Given the description of an element on the screen output the (x, y) to click on. 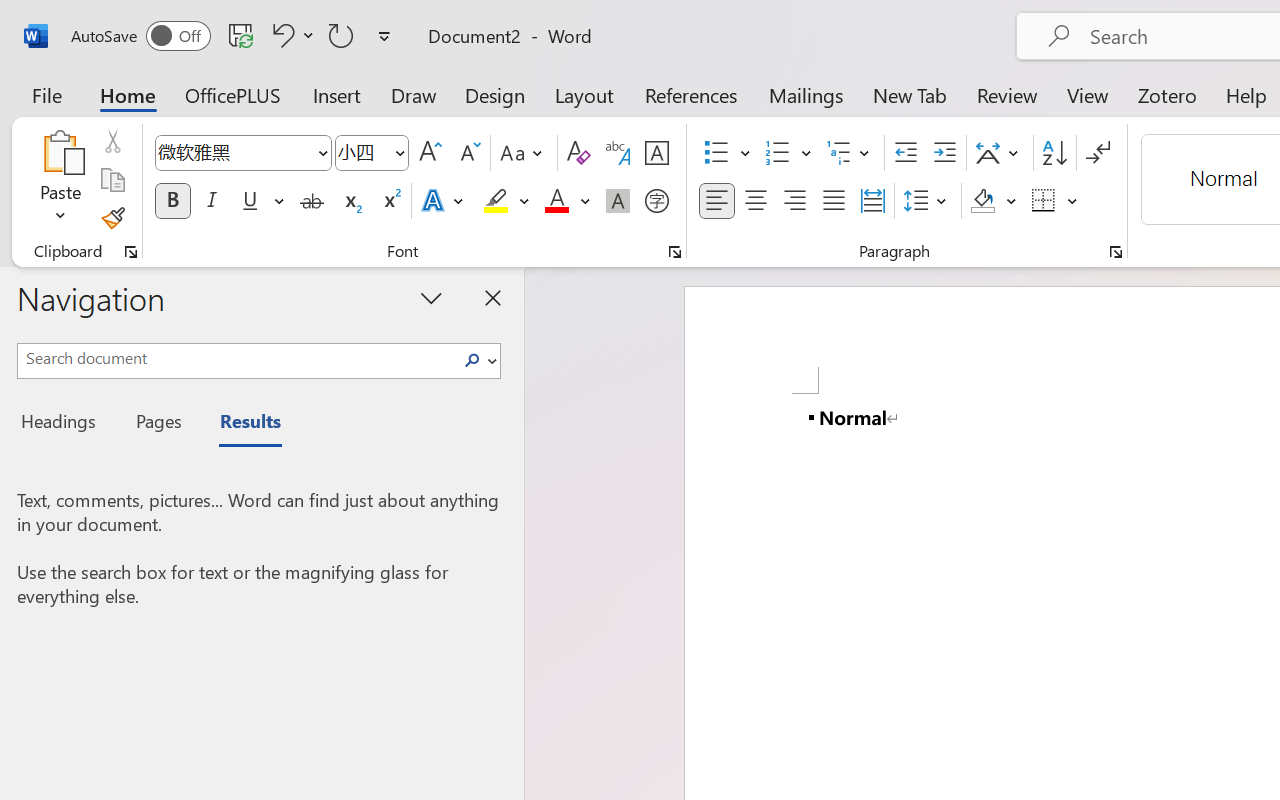
Superscript (390, 201)
Multilevel List (850, 153)
Font Size (372, 153)
Font Size (362, 152)
AutoSave (140, 35)
Decrease Indent (906, 153)
OfficePLUS (233, 94)
Paragraph... (1115, 252)
Search document (236, 358)
Customize Quick Access Toolbar (384, 35)
Borders (1044, 201)
Bullets (716, 153)
Distributed (872, 201)
Shading RGB(0, 0, 0) (982, 201)
